Given the description of an element on the screen output the (x, y) to click on. 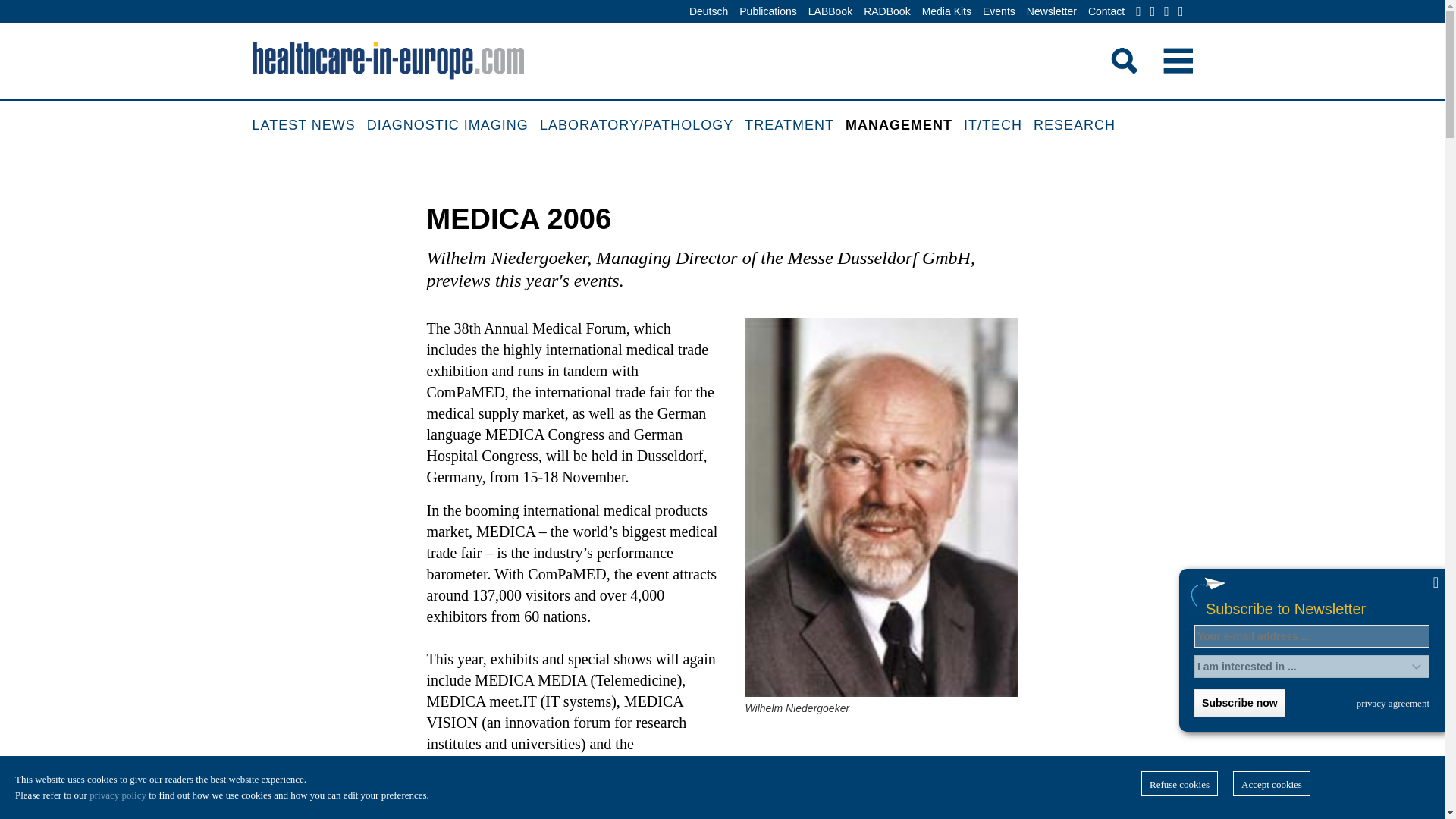
Deutsch (708, 12)
Publications (767, 12)
MANAGEMENT (904, 126)
LATEST NEWS (308, 126)
Events (998, 12)
Media Kits (946, 12)
privacy agreement (1392, 703)
TREATMENT (794, 126)
RESEARCH (1079, 126)
Newsletter (1051, 12)
